Given the description of an element on the screen output the (x, y) to click on. 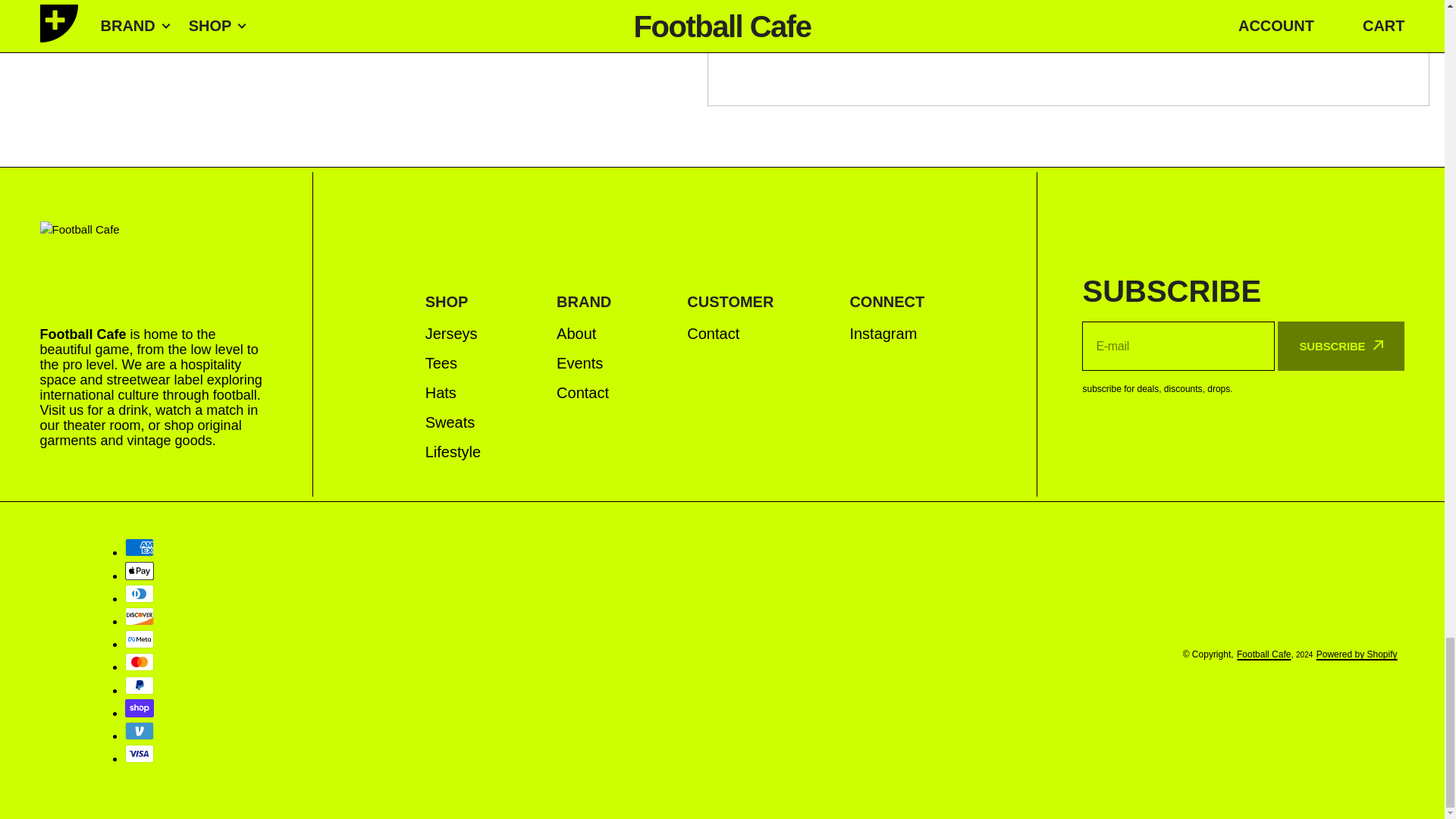
Discover (137, 616)
Visa (137, 753)
American Express (137, 547)
Venmo (137, 730)
Diners Club (137, 593)
Apple Pay (137, 570)
PayPal (137, 685)
Shop Pay (137, 708)
Mastercard (137, 661)
Meta Pay (137, 638)
